Given the description of an element on the screen output the (x, y) to click on. 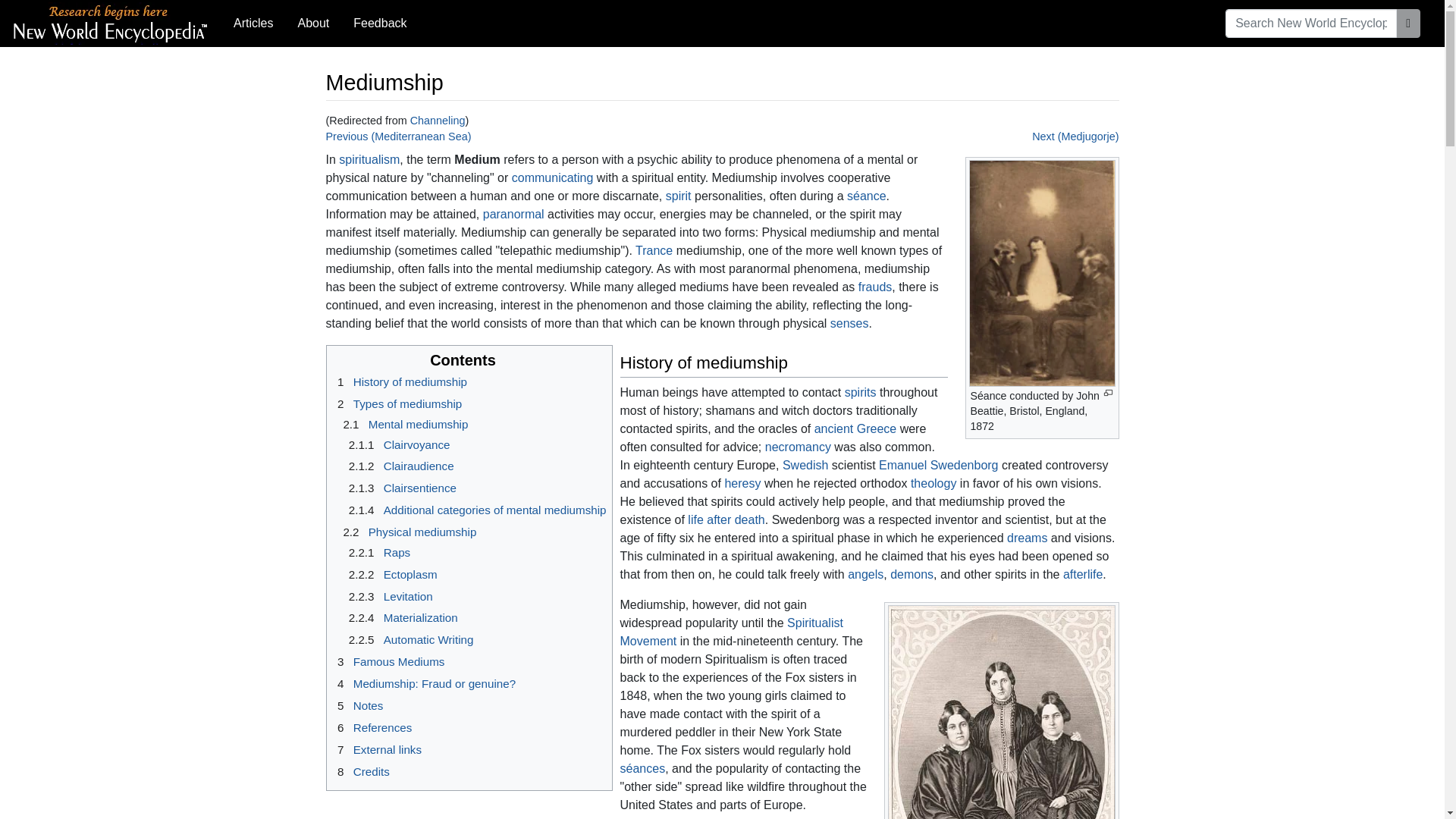
Sweden (805, 464)
senses (849, 323)
Spirit (860, 391)
2.2.1 Raps (376, 552)
Medjugorje (1075, 136)
5 Notes (357, 705)
2.1.3 Clairsentience (400, 487)
Channeling (437, 120)
About (312, 23)
2.1.1 Clairvoyance (396, 444)
3 Famous Mediums (388, 661)
spiritualism (368, 159)
Mediterranean Sea (398, 136)
2.2.4 Materialization (400, 617)
Enlarge (1107, 393)
